Given the description of an element on the screen output the (x, y) to click on. 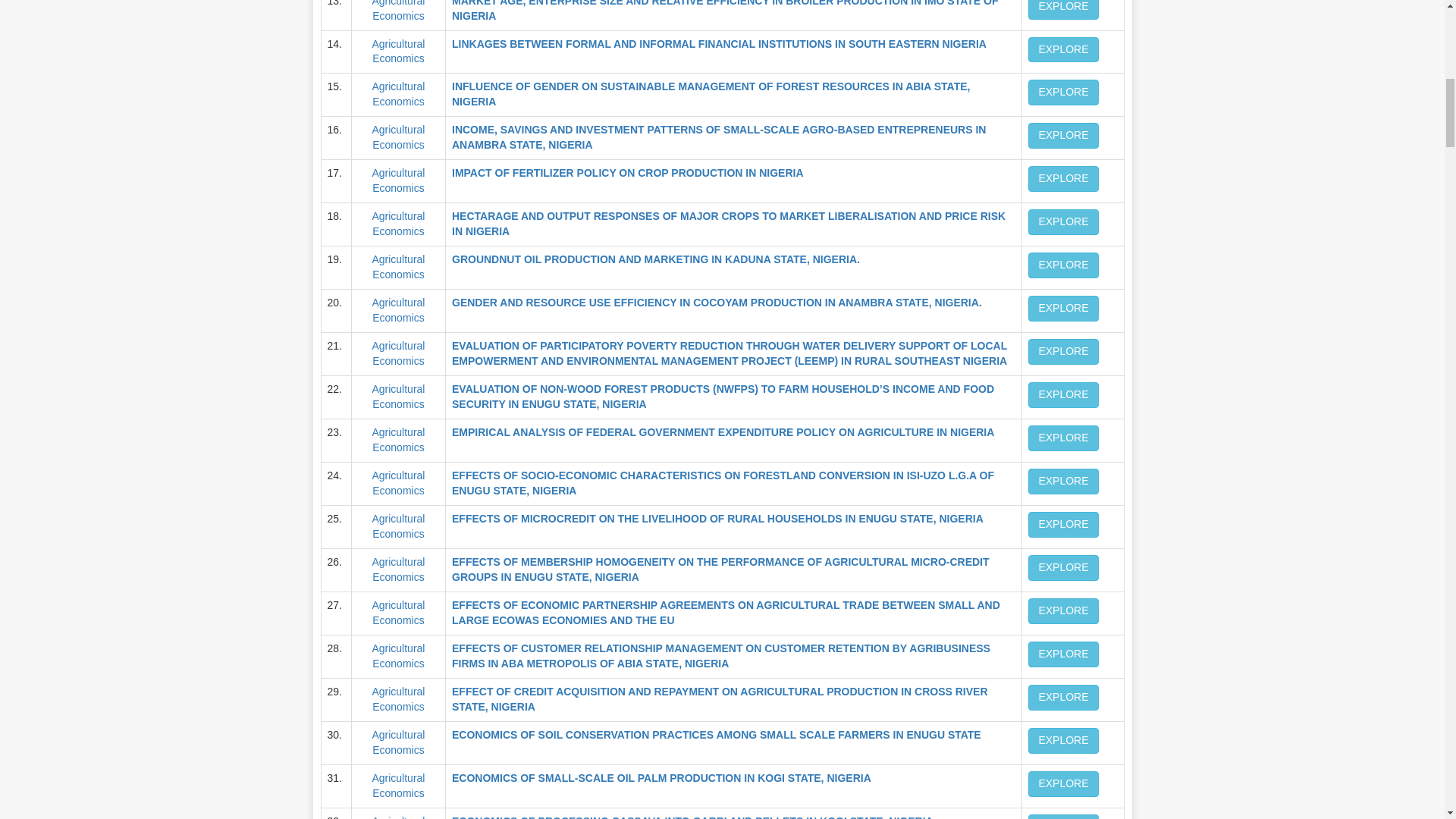
IMPACT OF FERTILIZER POLICY ON CROP PRODUCTION IN NIGERIA (627, 173)
